Given the description of an element on the screen output the (x, y) to click on. 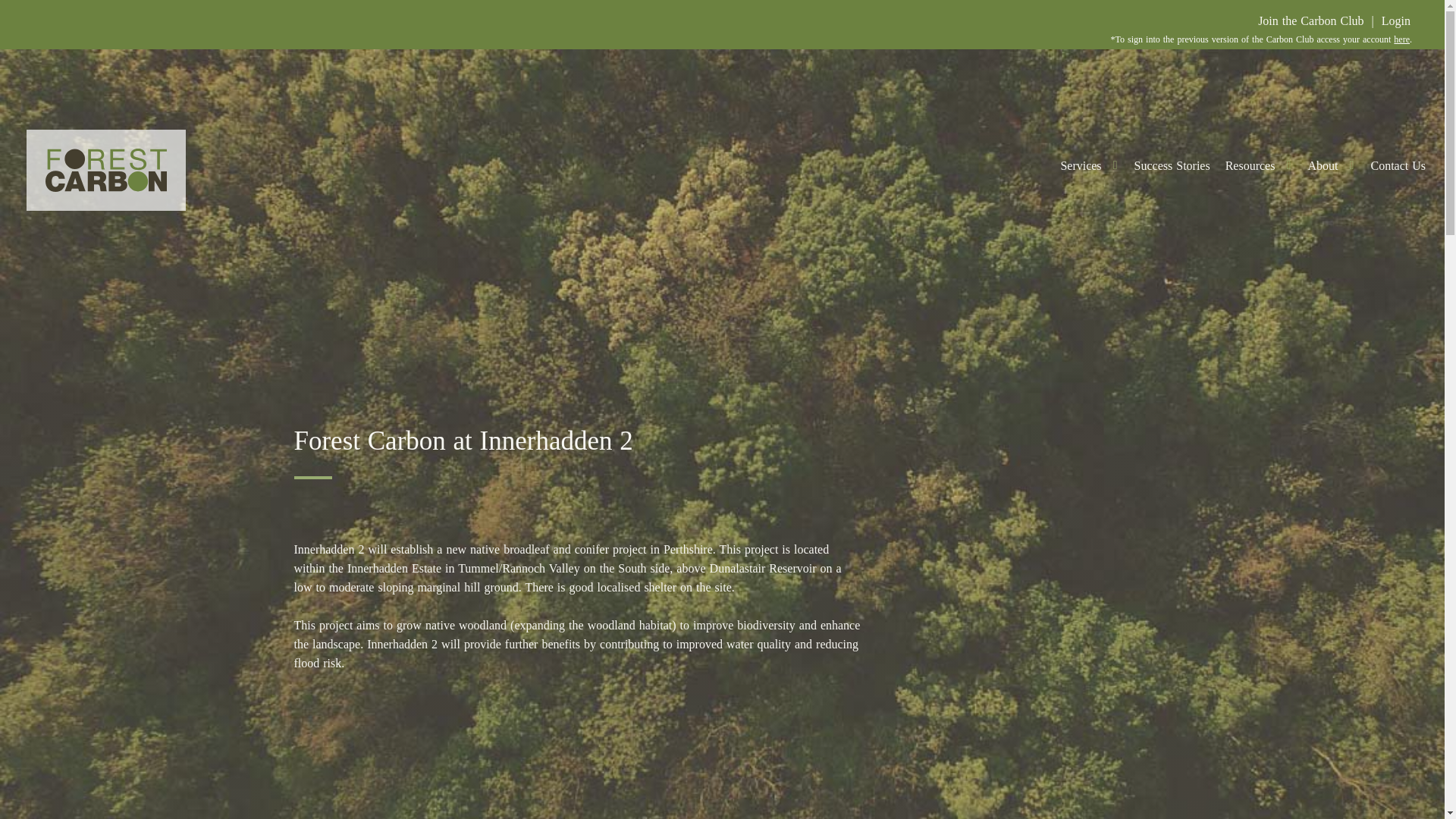
Login (1396, 21)
here (1401, 39)
Services (1088, 174)
Join the Carbon Club (1310, 21)
